Given the description of an element on the screen output the (x, y) to click on. 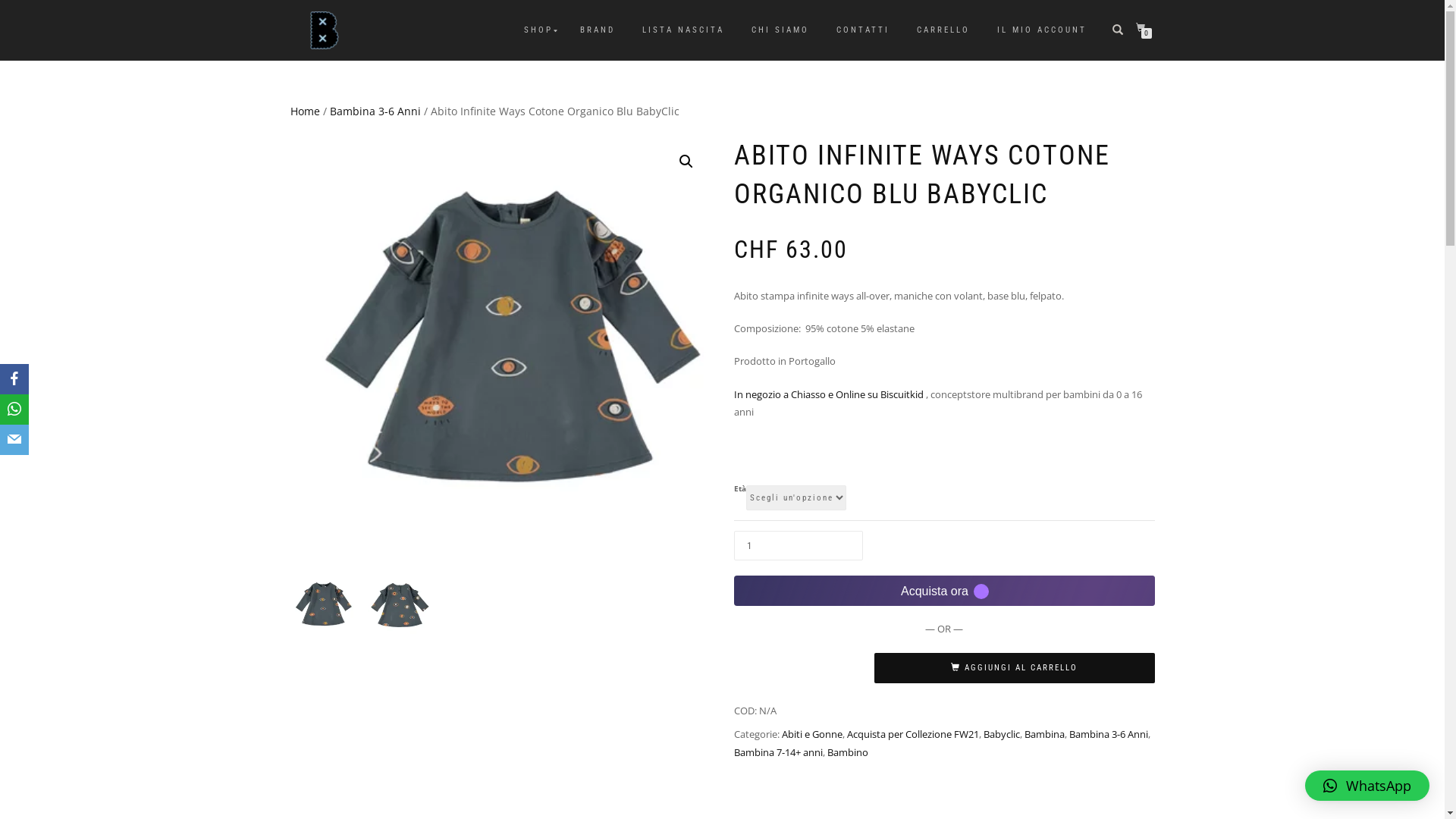
AGGIUNGI AL CARRELLO Element type: text (1013, 667)
Home Element type: text (304, 110)
0 Element type: text (1143, 27)
CHI SIAMO Element type: text (780, 30)
Casella pulsante di pagamento sicuro Element type: hover (944, 590)
L1654400 Element type: hover (499, 346)
Bambina 7-14+ anni Element type: text (778, 752)
SHOP Element type: text (538, 30)
Acquista per Collezione FW21 Element type: text (912, 733)
Bambina 3-6 Anni Element type: text (374, 110)
IL MIO ACCOUNT Element type: text (1041, 30)
Babyclic Element type: text (1000, 733)
CONTATTI Element type: text (862, 30)
In negozio a Chiasso e Online su Biscuitkid Element type: text (829, 394)
Bambina 3-6 Anni Element type: text (1108, 733)
WhatsApp Element type: text (1367, 785)
BRAND Element type: text (597, 30)
Bambina Element type: text (1043, 733)
CARRELLO Element type: text (943, 30)
Abiti e Gonne Element type: text (811, 733)
LISTA NASCITA Element type: text (682, 30)
Bambino Element type: text (846, 752)
